Given the description of an element on the screen output the (x, y) to click on. 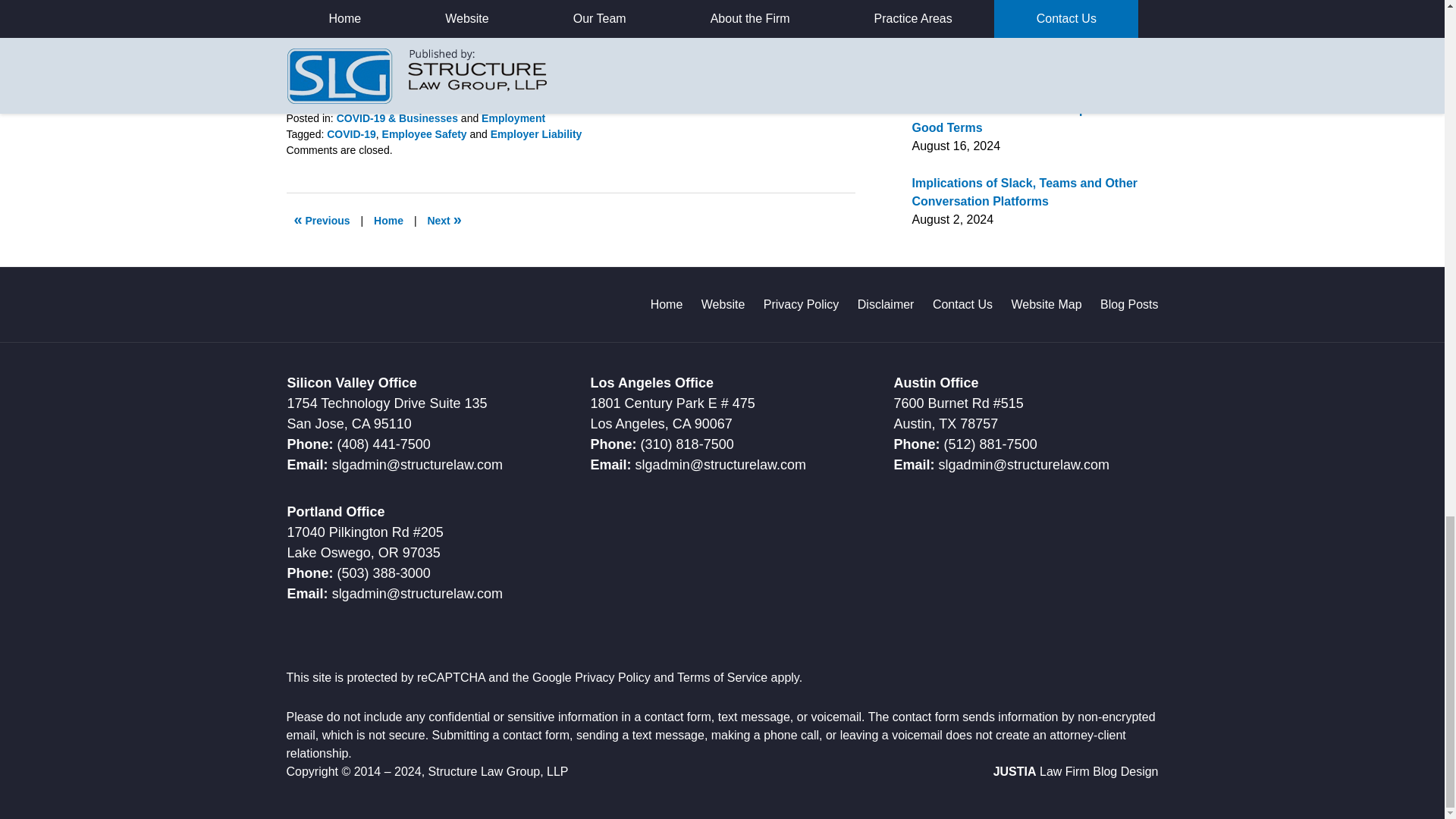
View all posts tagged with Employer Liability (536, 133)
View all posts tagged with Employee Safety (424, 133)
Employment (512, 118)
contact us through our website (557, 74)
View all posts tagged with COVID-19 (350, 133)
View all posts in Employment (512, 118)
Home (388, 220)
COVID-19 (350, 133)
Employer Liability (536, 133)
